Given the description of an element on the screen output the (x, y) to click on. 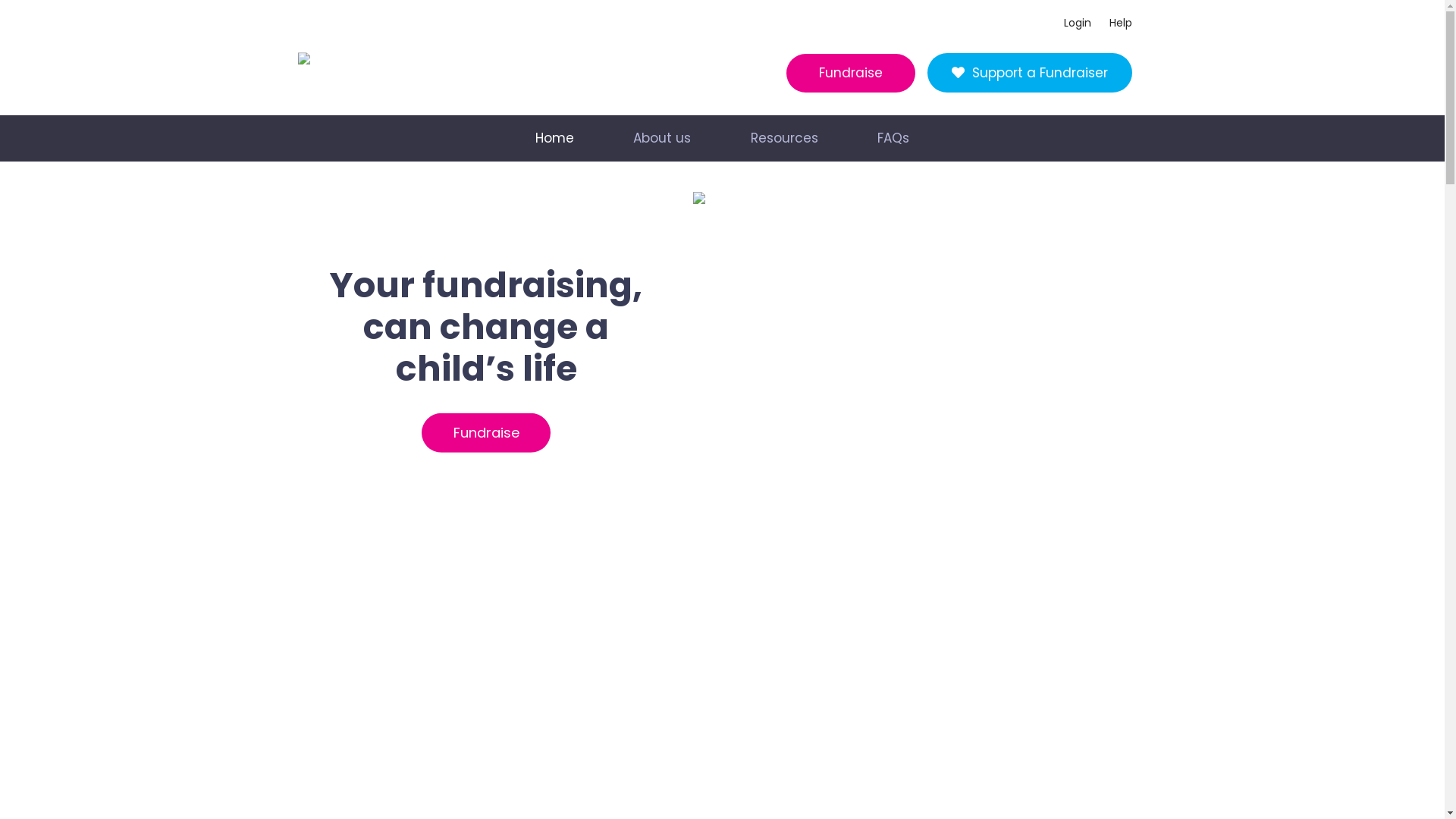
FAQs Element type: text (892, 138)
Help Element type: text (1115, 22)
Home Element type: text (554, 138)
Support a Fundraiser Element type: text (1028, 72)
Login Element type: text (1076, 22)
Fundraise Element type: text (485, 432)
About us Element type: text (661, 138)
Fundraise Element type: text (849, 72)
Resources Element type: text (783, 138)
